Given the description of an element on the screen output the (x, y) to click on. 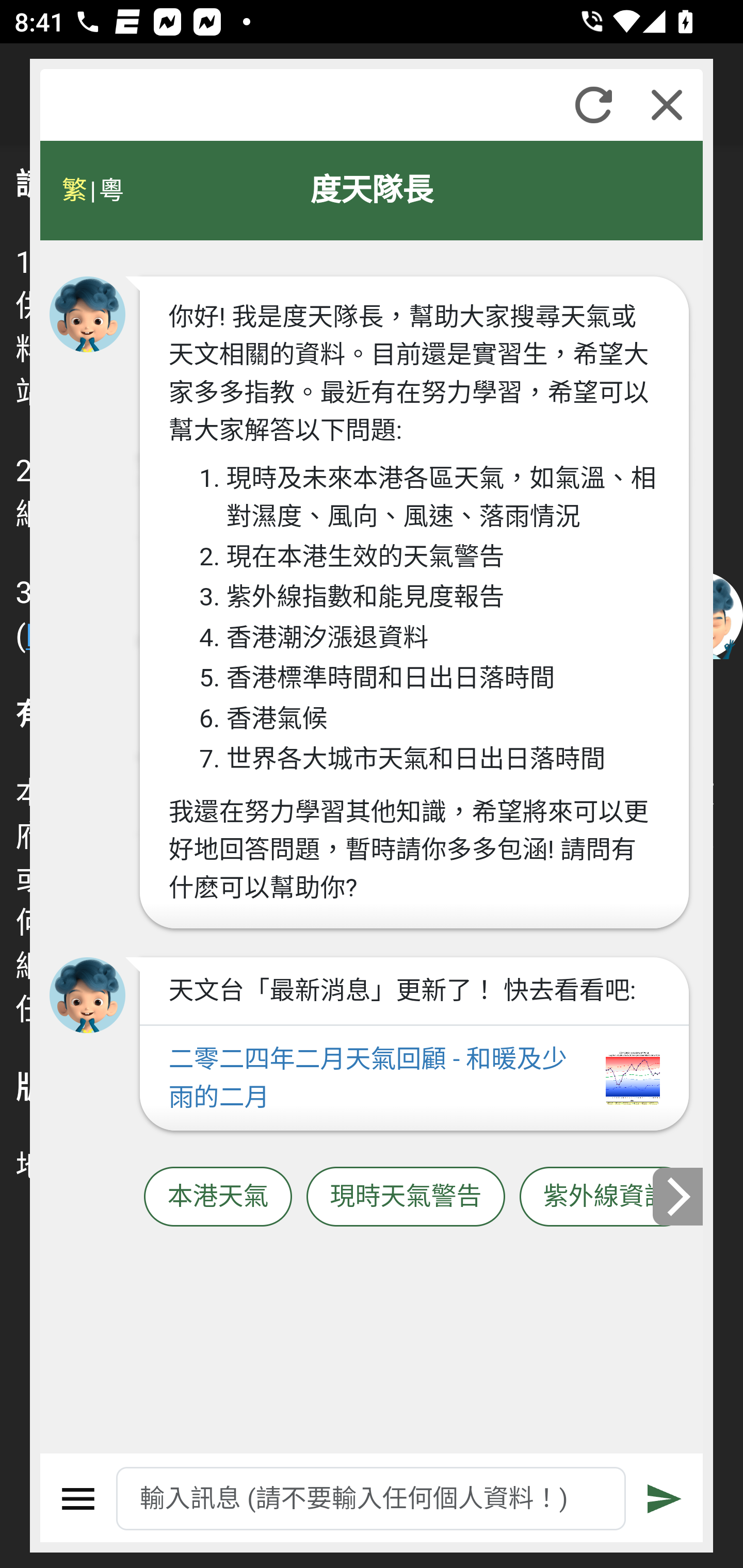
重新整理 (593, 104)
關閉 (666, 104)
繁 (73, 190)
粵 (110, 190)
二零二四年二月天氣回顧 - 和暖及少雨的二月 (413, 1078)
本港天氣 (217, 1196)
現時天氣警告 (405, 1196)
紫外線資訊 (605, 1196)
下一張 (678, 1196)
選單 (78, 1498)
遞交 (665, 1498)
